Given the description of an element on the screen output the (x, y) to click on. 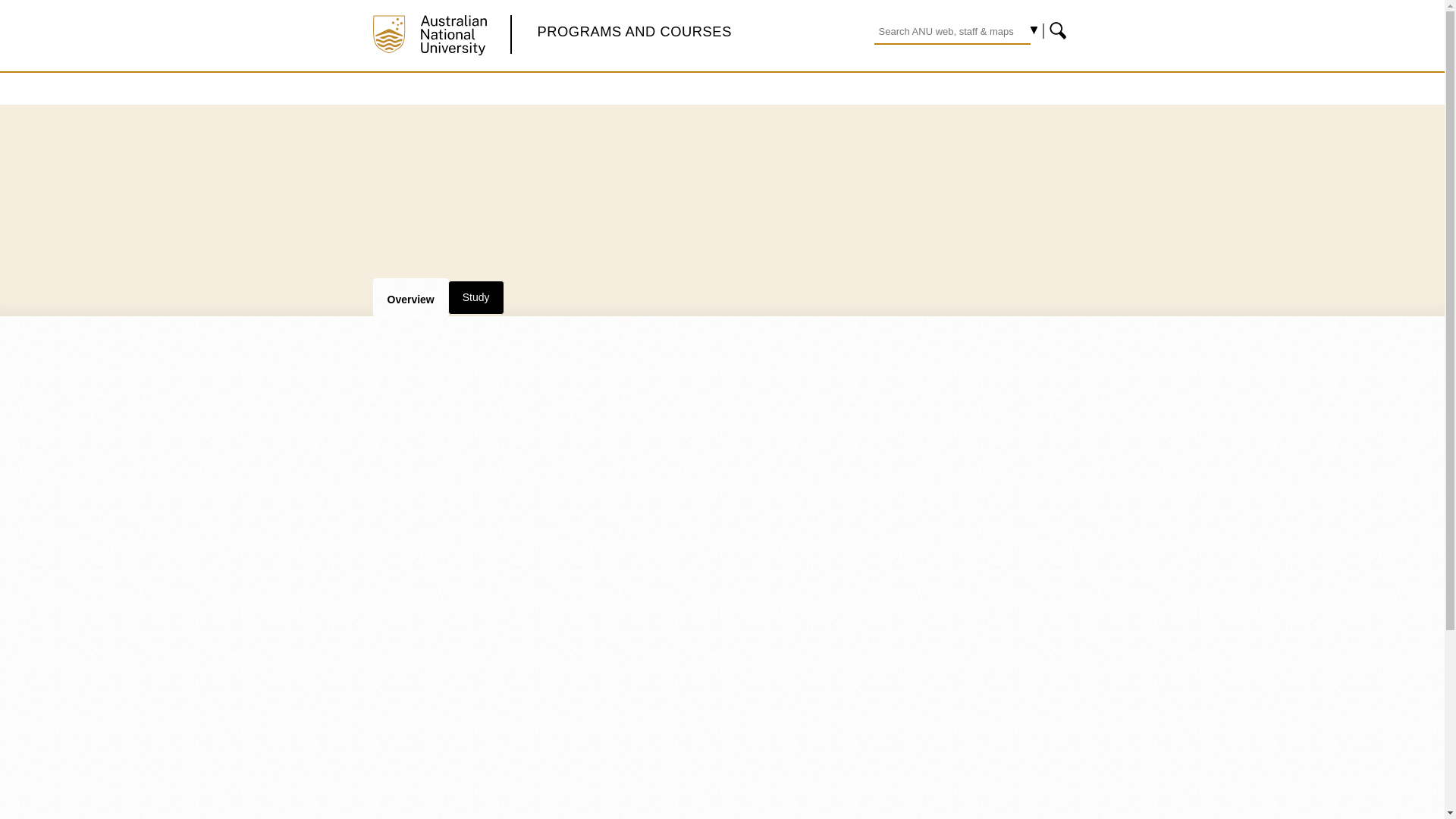
Study (475, 296)
Go (1059, 30)
PROGRAMS AND COURSES (633, 31)
Overview (410, 297)
